Given the description of an element on the screen output the (x, y) to click on. 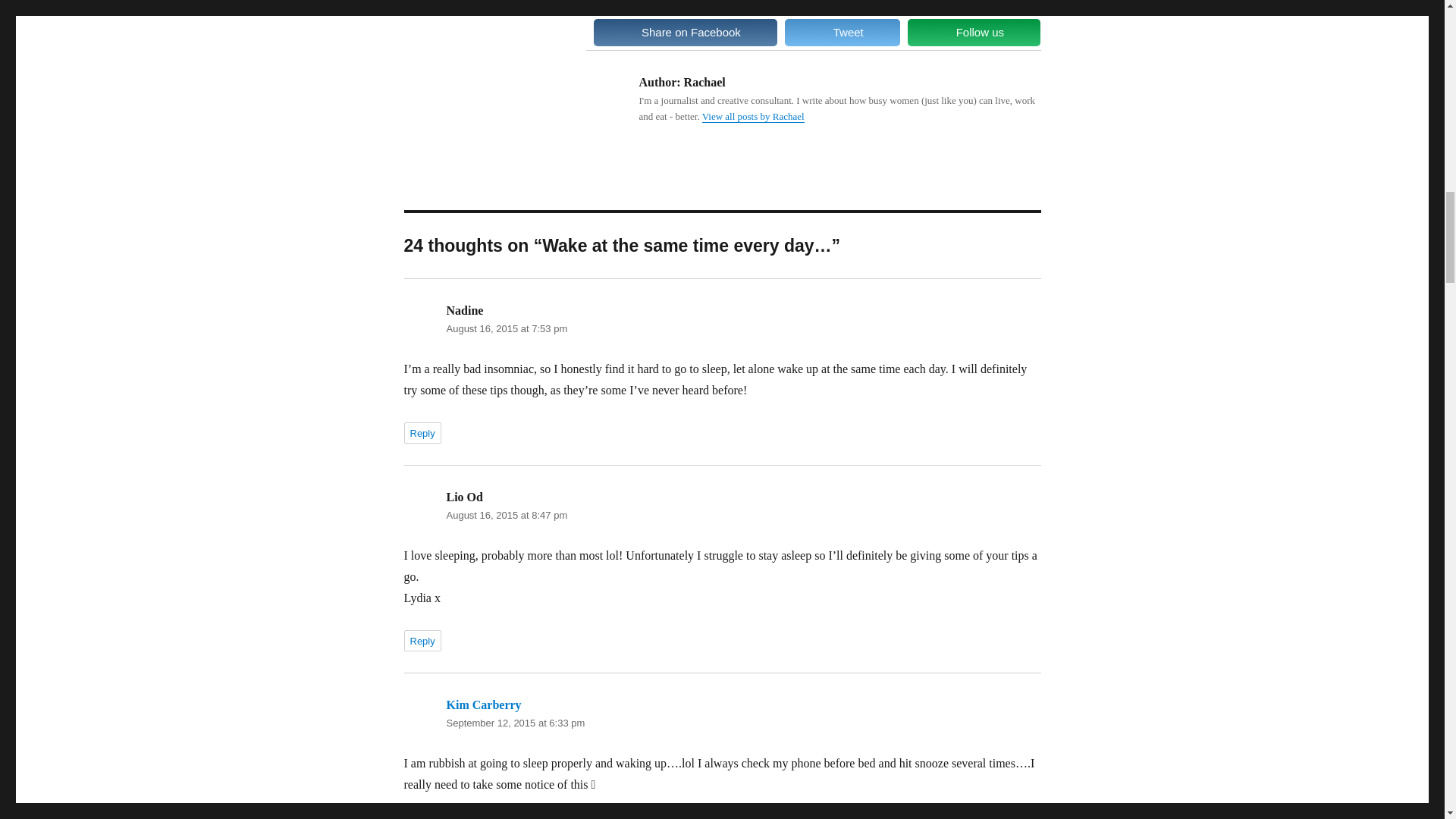
Follow us (974, 31)
Kim Carberry (483, 704)
September 12, 2015 at 6:33 pm (515, 722)
Reply (422, 817)
Reply (422, 640)
August 16, 2015 at 7:53 pm (506, 328)
Share on Facebook (684, 31)
Reply (422, 432)
August 16, 2015 at 8:47 pm (506, 514)
Tweet (841, 31)
